Given the description of an element on the screen output the (x, y) to click on. 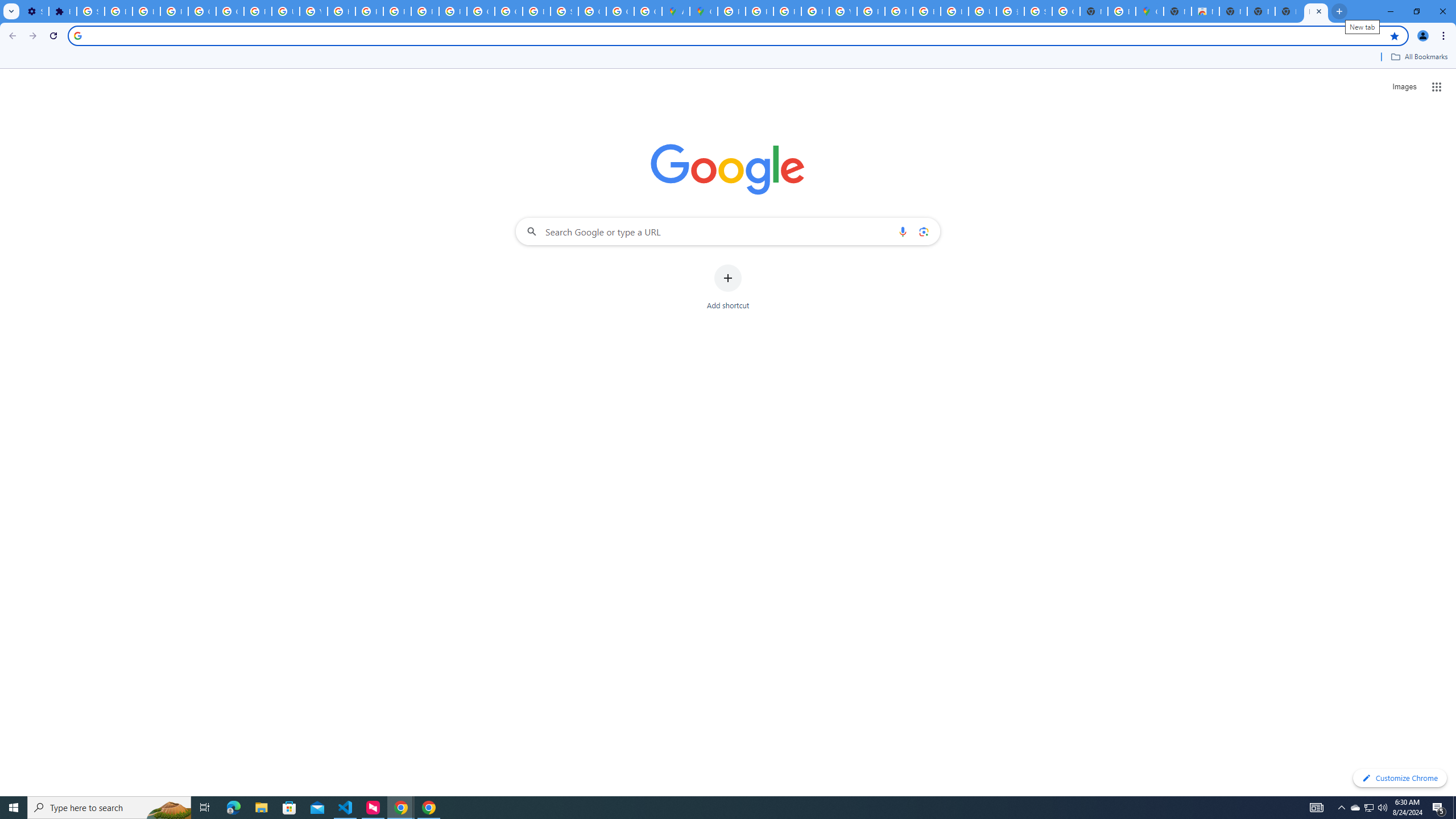
Customize Chrome (1399, 778)
Add shortcut (727, 287)
Sign in - Google Accounts (564, 11)
Extensions (62, 11)
Privacy Help Center - Policies Help (369, 11)
Google Account Help (229, 11)
YouTube (842, 11)
